Given the description of an element on the screen output the (x, y) to click on. 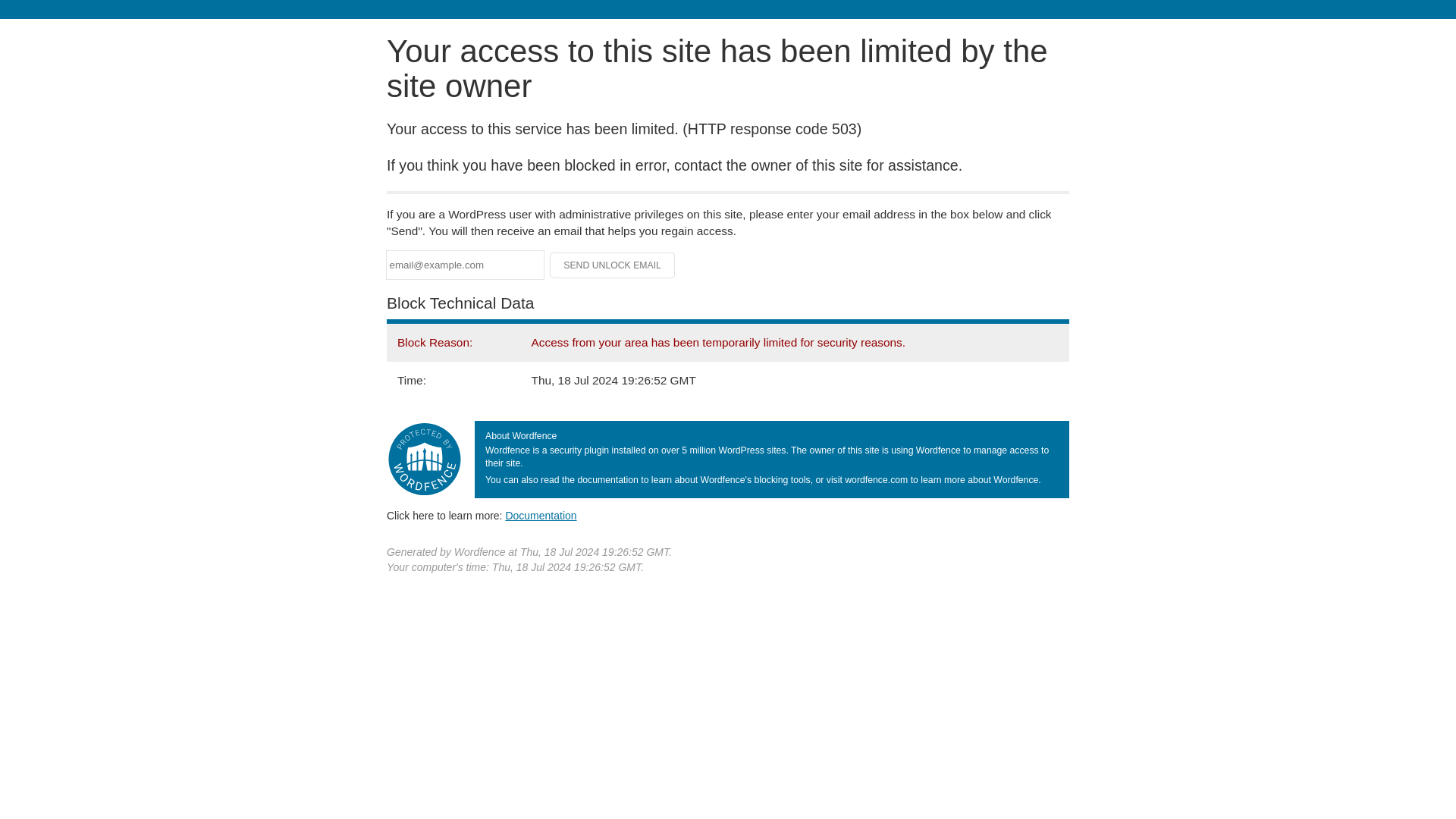
Documentation (540, 515)
Send Unlock Email (612, 265)
Send Unlock Email (612, 265)
